Given the description of an element on the screen output the (x, y) to click on. 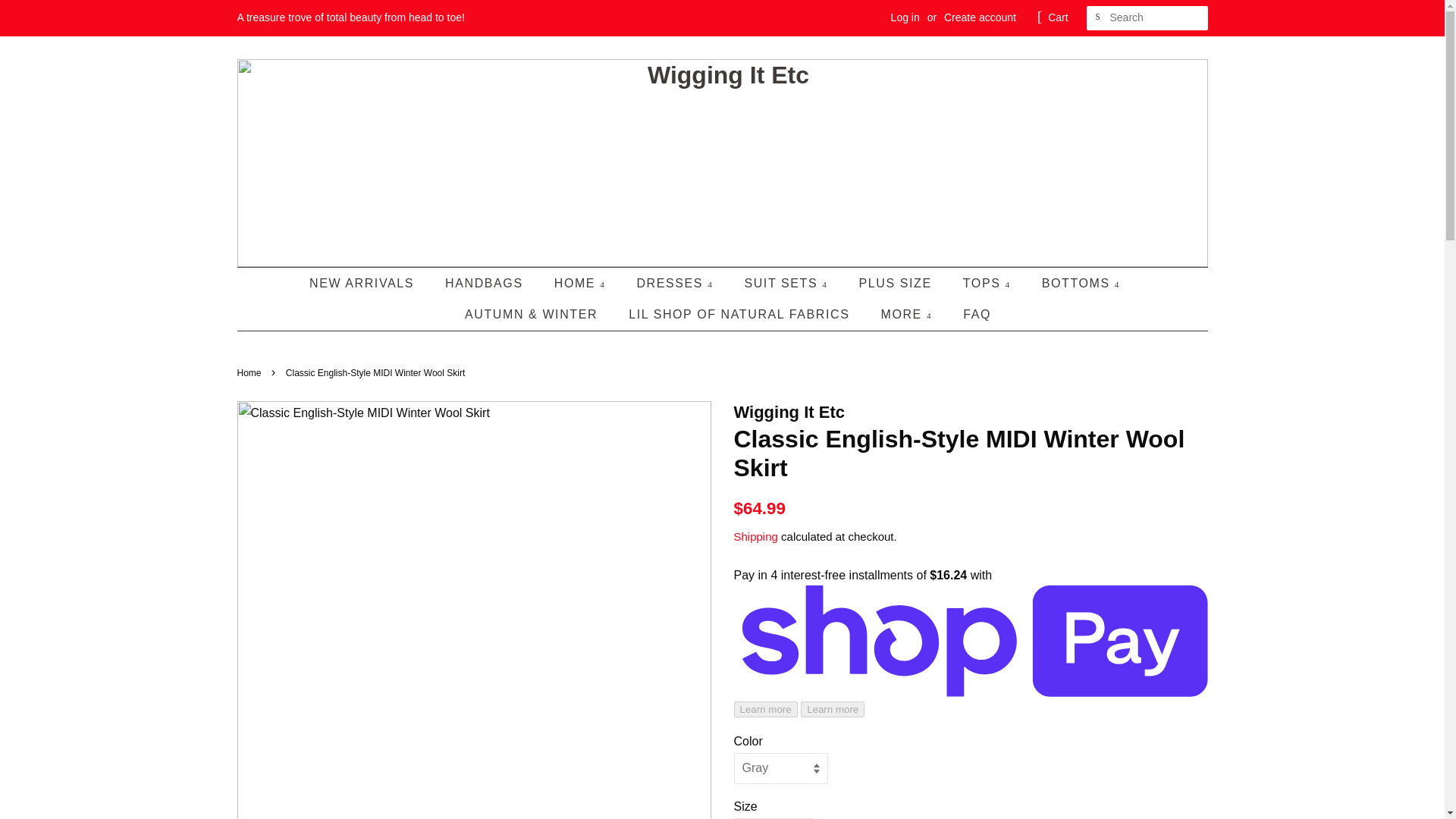
Back to the frontpage (249, 372)
SEARCH (1097, 15)
Log in (905, 17)
Create account (979, 17)
A treasure trove of total beauty from head to toe! (349, 17)
Cart (1057, 18)
